Given the description of an element on the screen output the (x, y) to click on. 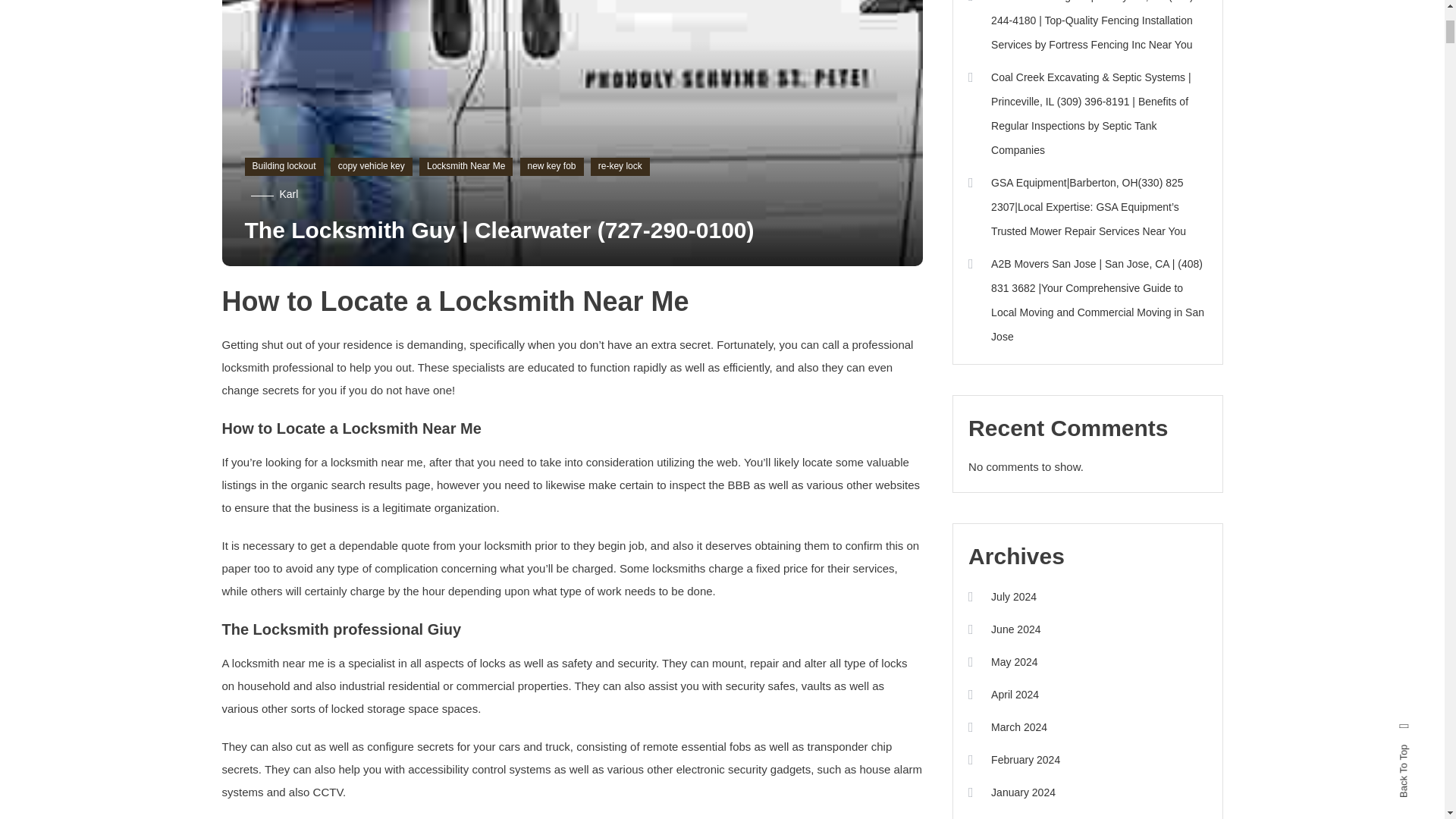
Building lockout (283, 167)
